Given the description of an element on the screen output the (x, y) to click on. 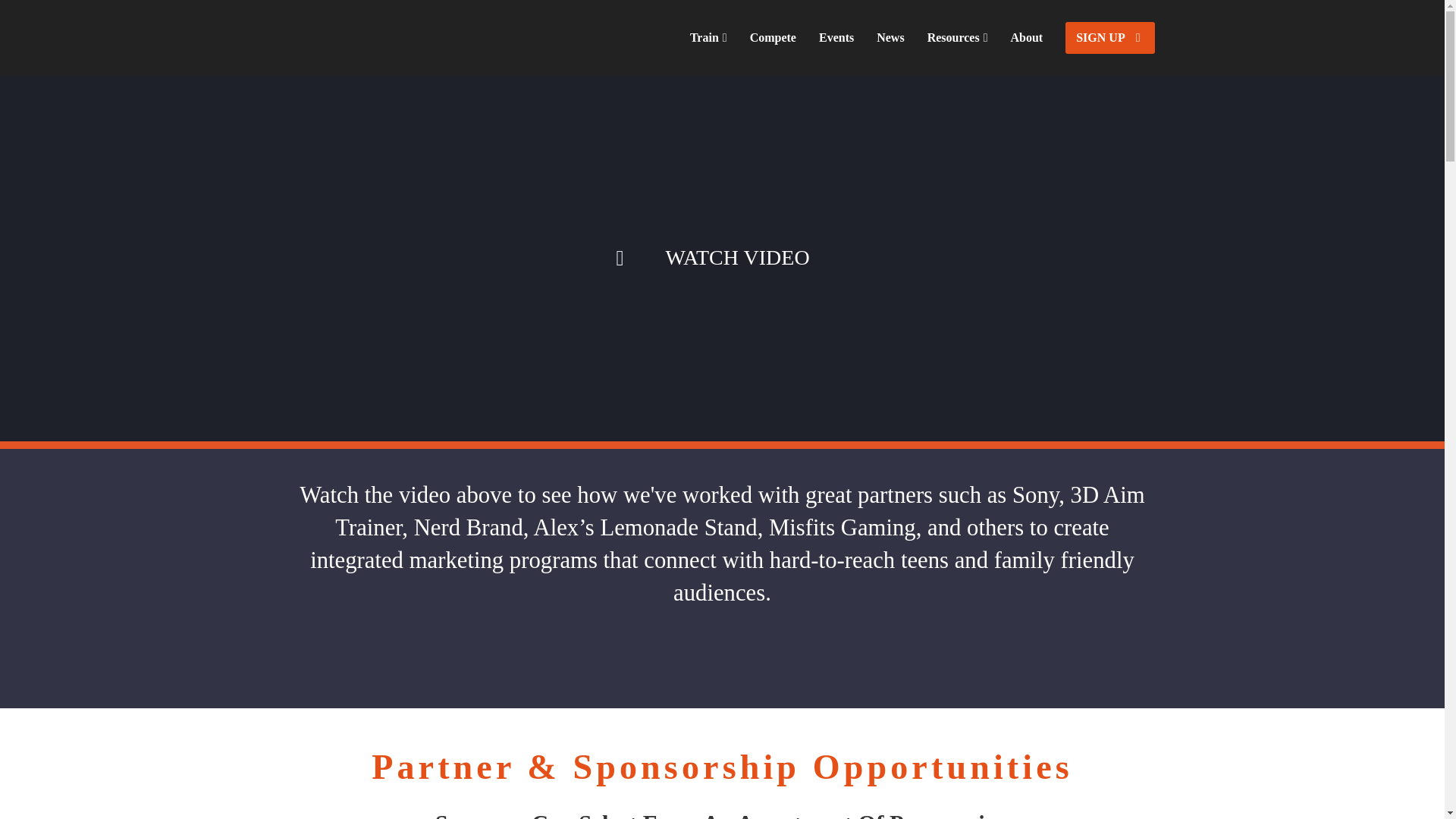
Events (836, 37)
Train (708, 37)
SIGN UP (1109, 38)
Compete (773, 37)
Resources (956, 37)
WATCH VIDEO (722, 258)
News (889, 37)
About (1026, 37)
